Given the description of an element on the screen output the (x, y) to click on. 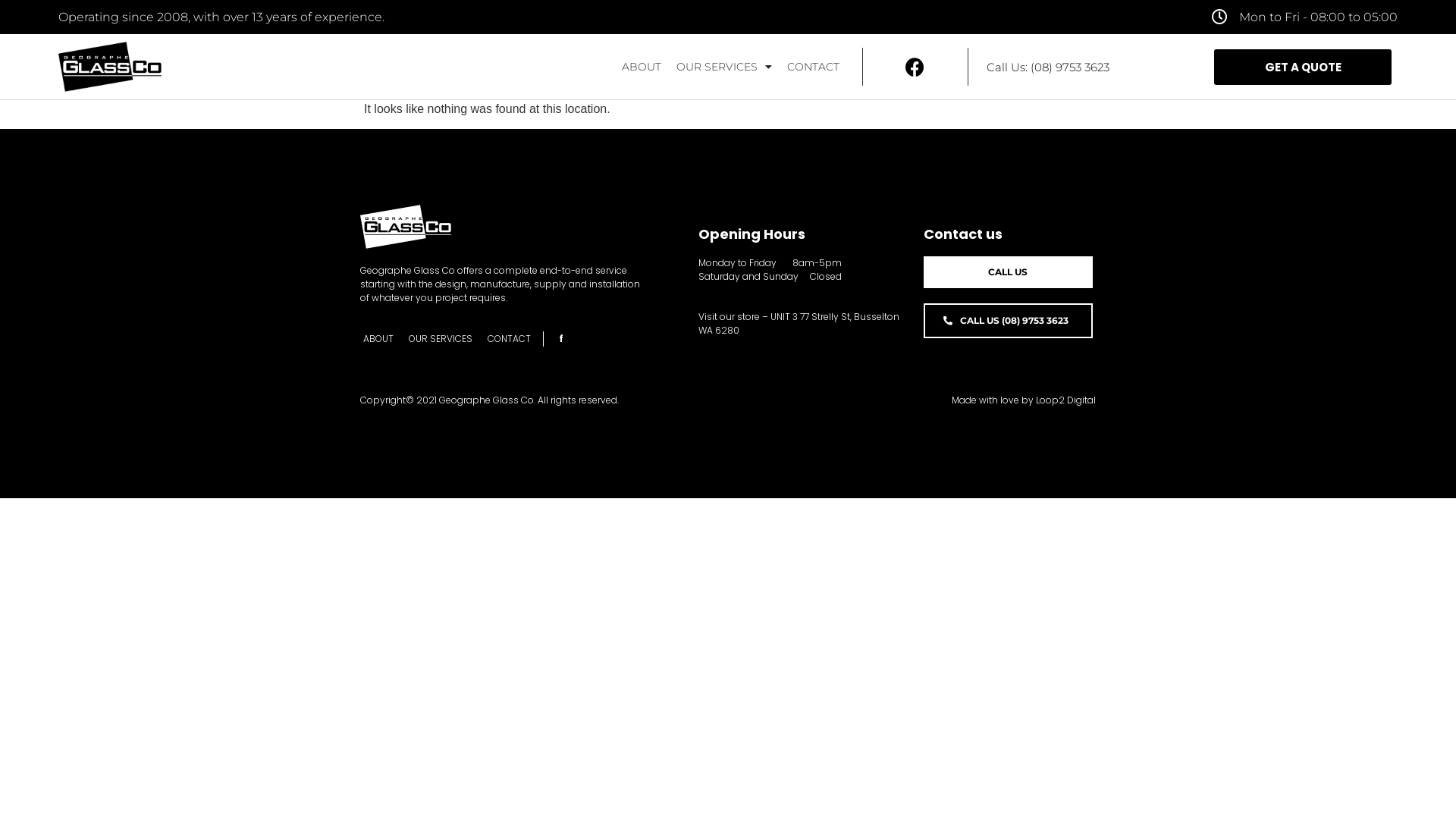
OUR SERVICES Element type: text (440, 338)
CALL US (08) 9753 3623 Element type: text (1008, 320)
ABOUT Element type: text (641, 66)
CONTACT Element type: text (813, 66)
Call Us: (08) 9753 3623 Element type: text (1047, 66)
OUR SERVICES Element type: text (723, 66)
CALL US Element type: text (1008, 272)
GET A QUOTE Element type: text (1302, 66)
Loop2 Digital Element type: text (1065, 399)
ABOUT Element type: text (378, 338)
CONTACT Element type: text (508, 338)
f Element type: text (554, 338)
